Given the description of an element on the screen output the (x, y) to click on. 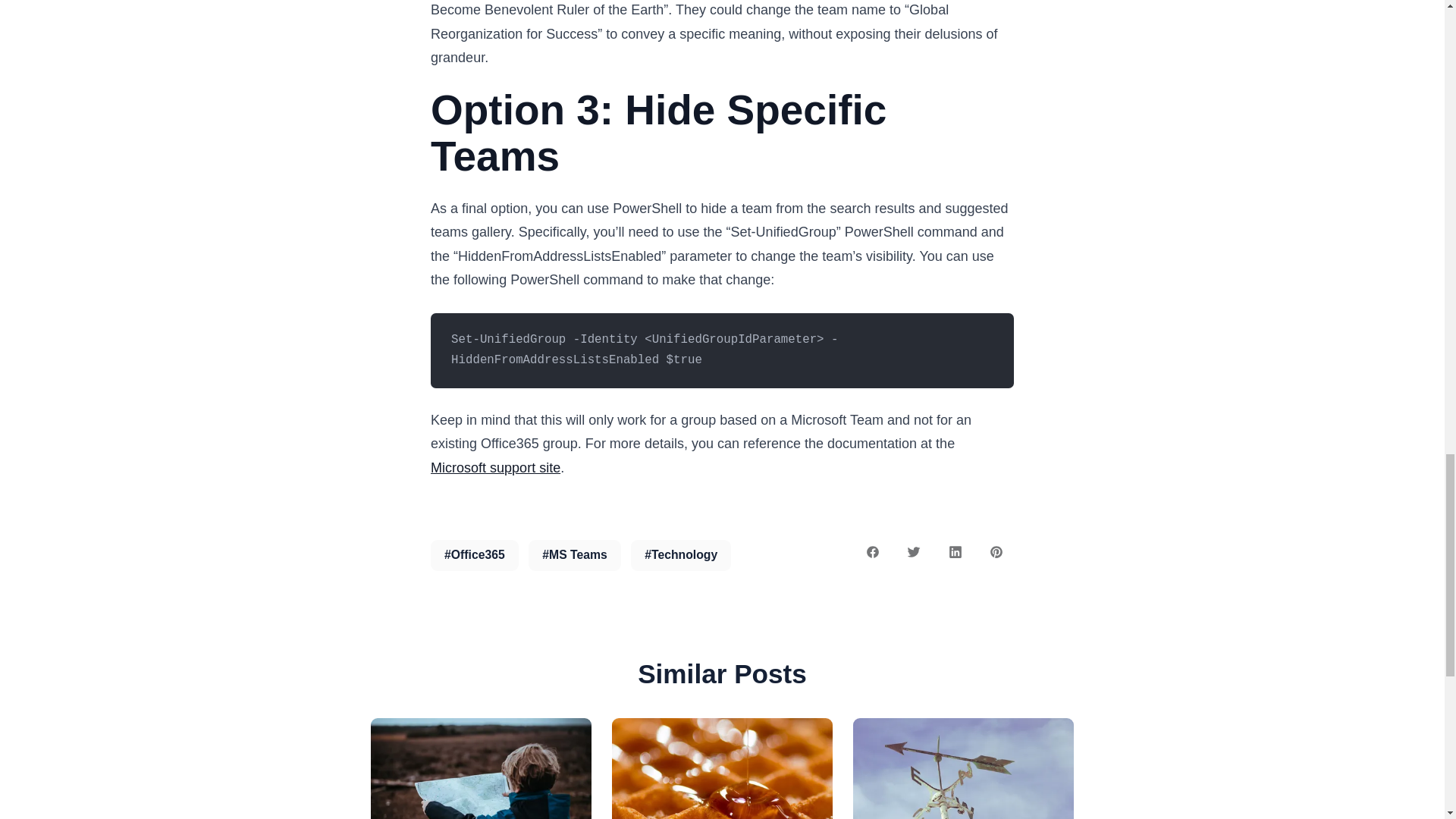
Microsoft support site (495, 467)
